Given the description of an element on the screen output the (x, y) to click on. 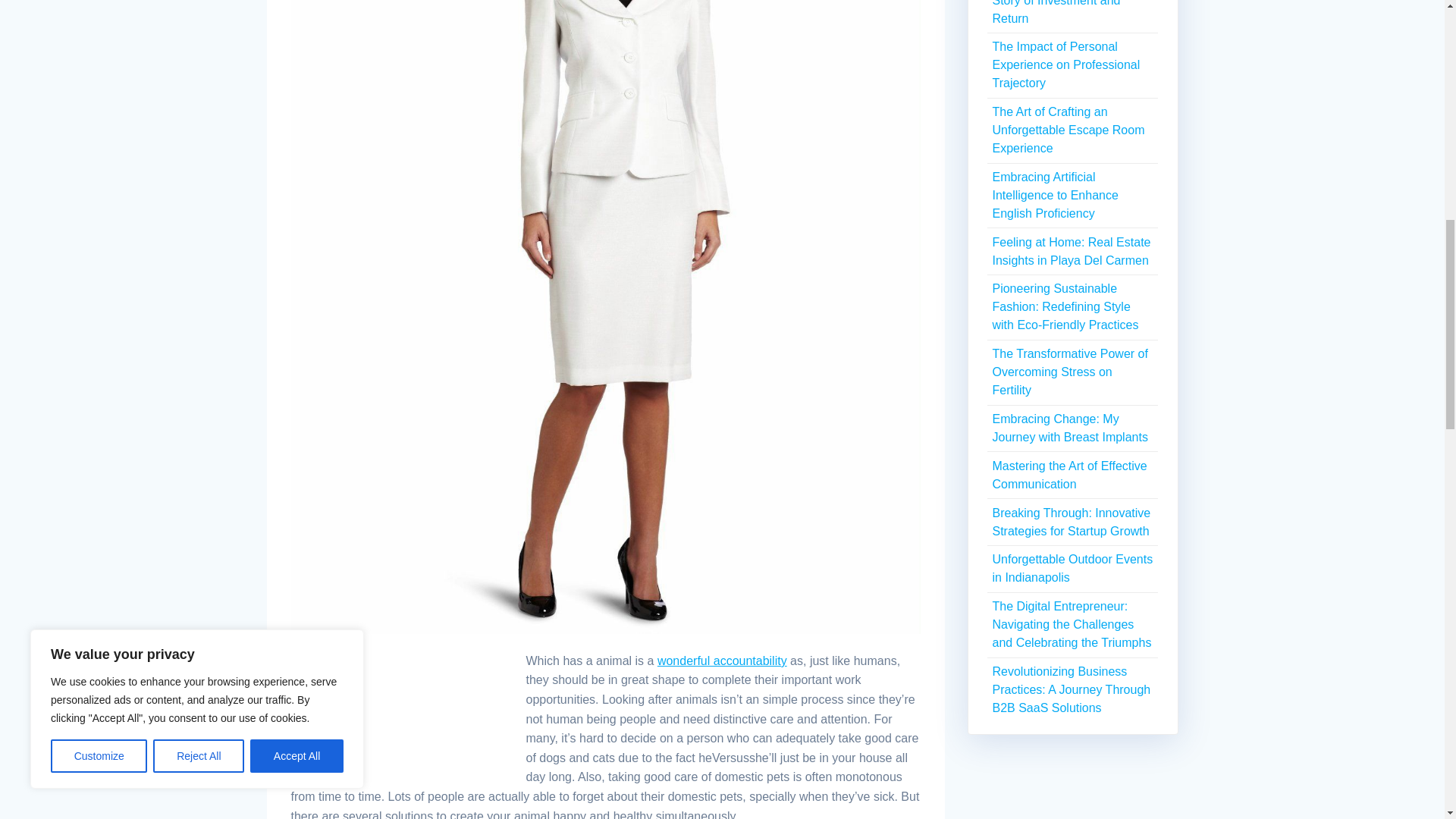
The Growth of Wineries: A Story of Investment and Return (1061, 12)
The Impact of Personal Experience on Professional Trajectory (1065, 64)
The Art of Crafting an Unforgettable Escape Room Experience (1067, 129)
wonderful accountability (722, 660)
